Given the description of an element on the screen output the (x, y) to click on. 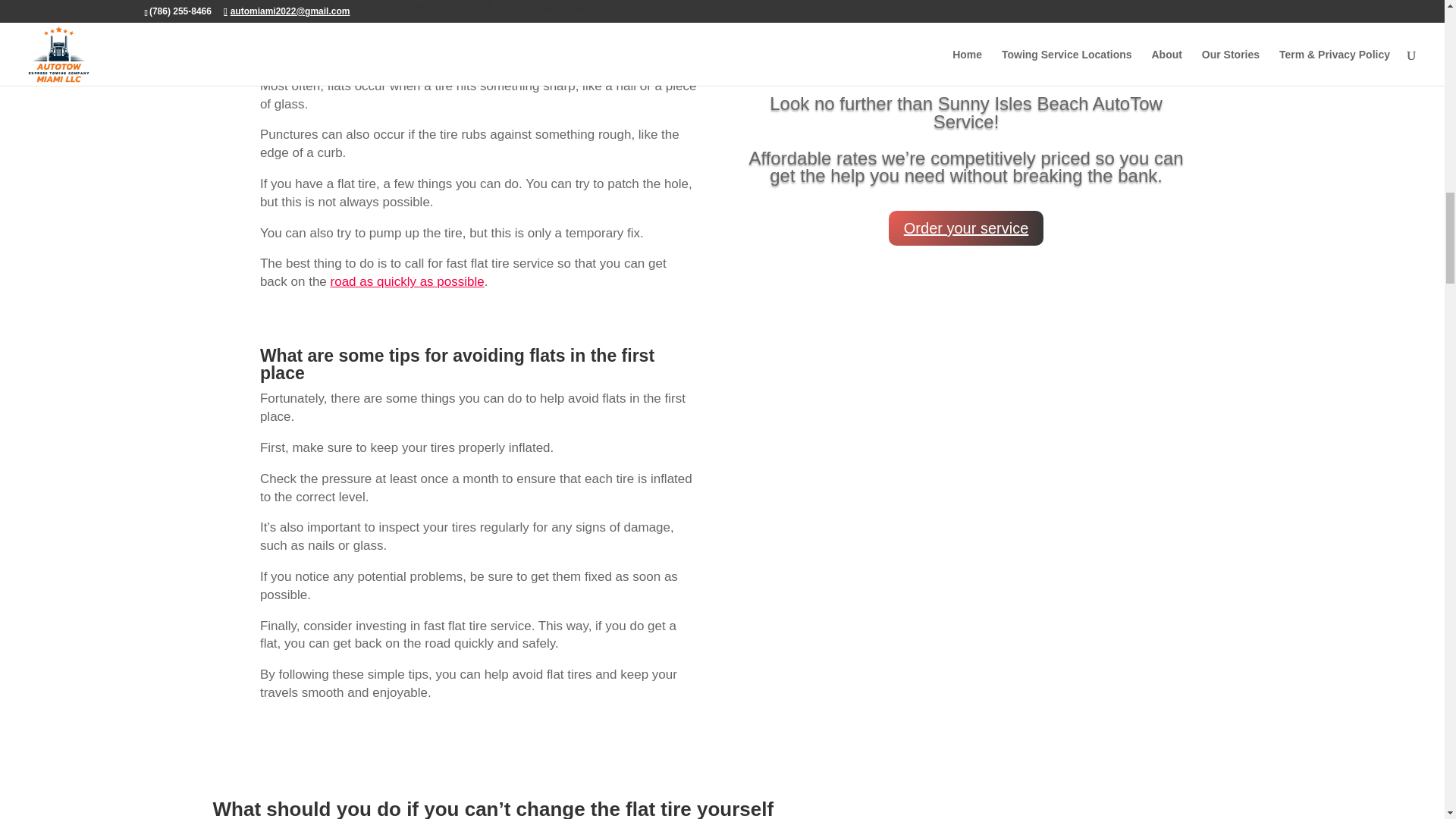
Order your service (965, 227)
road as quickly as possible (407, 281)
Car Lockout Service near Hollywood, FL (966, 7)
